Given the description of an element on the screen output the (x, y) to click on. 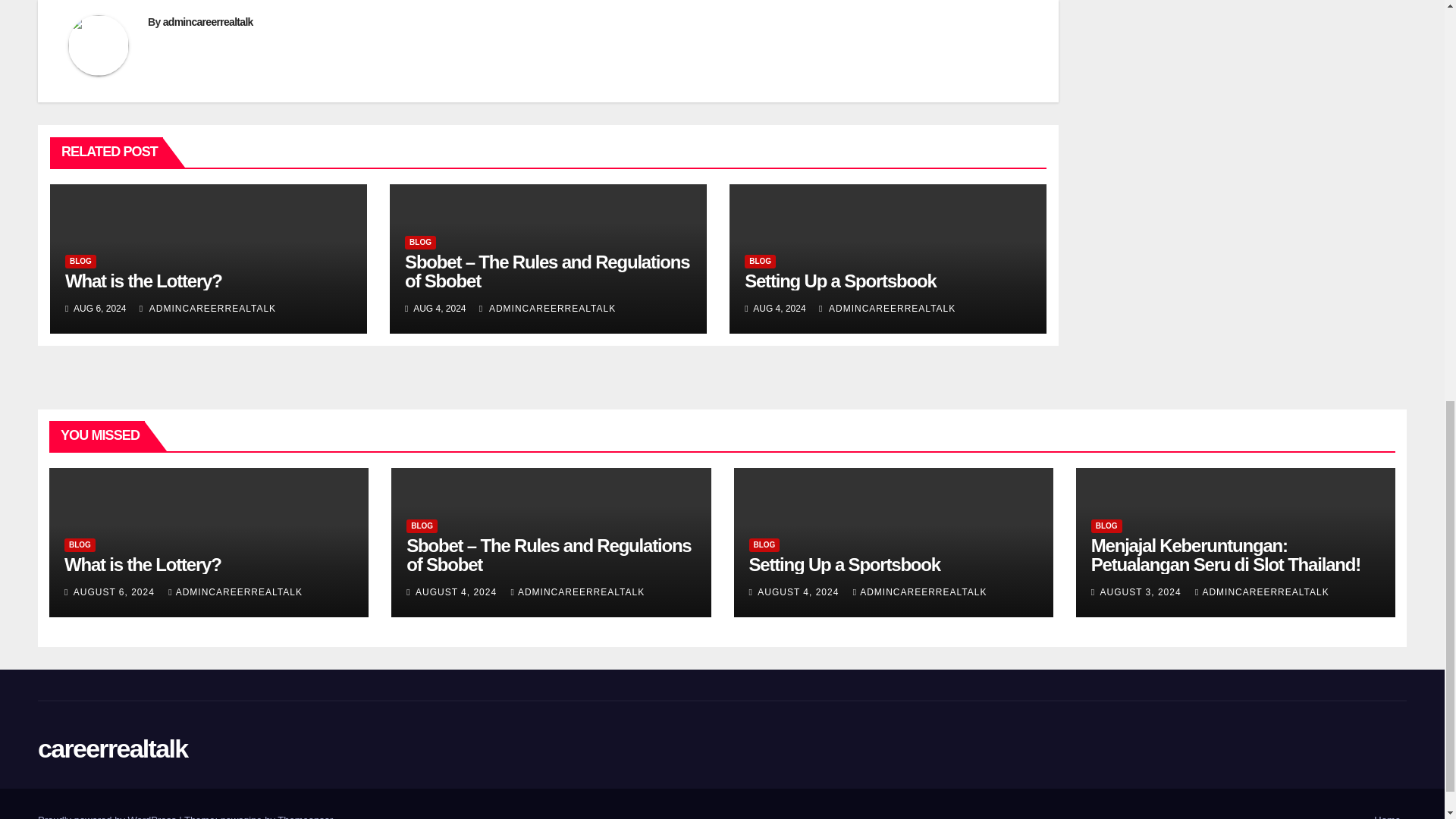
What is the Lottery? (143, 281)
BLOG (419, 242)
Permalink to: What is the Lottery? (143, 281)
ADMINCAREERREALTALK (547, 308)
Permalink to: Setting Up a Sportsbook (844, 564)
admincareerrealtalk (208, 21)
Home (1387, 813)
BLOG (760, 261)
Permalink to: Setting Up a Sportsbook (840, 281)
ADMINCAREERREALTALK (886, 308)
BLOG (80, 261)
Permalink to: What is the Lottery? (142, 564)
Setting Up a Sportsbook (840, 281)
ADMINCAREERREALTALK (207, 308)
